Given the description of an element on the screen output the (x, y) to click on. 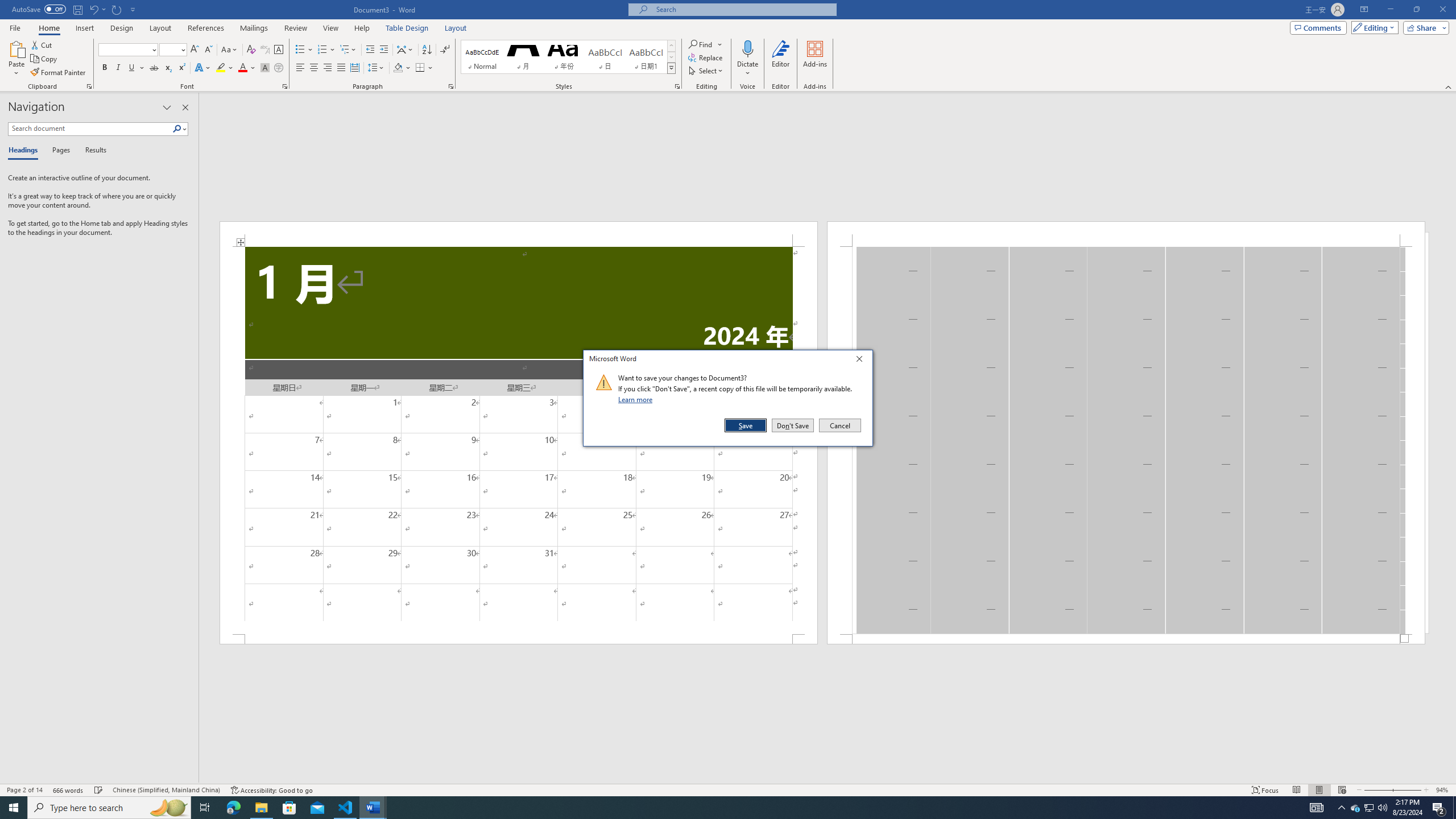
Start (13, 807)
Line and Paragraph Spacing (376, 67)
Type here to search (108, 807)
Text Highlight Color (224, 67)
Word Count 666 words (68, 790)
Distributed (354, 67)
